Given the description of an element on the screen output the (x, y) to click on. 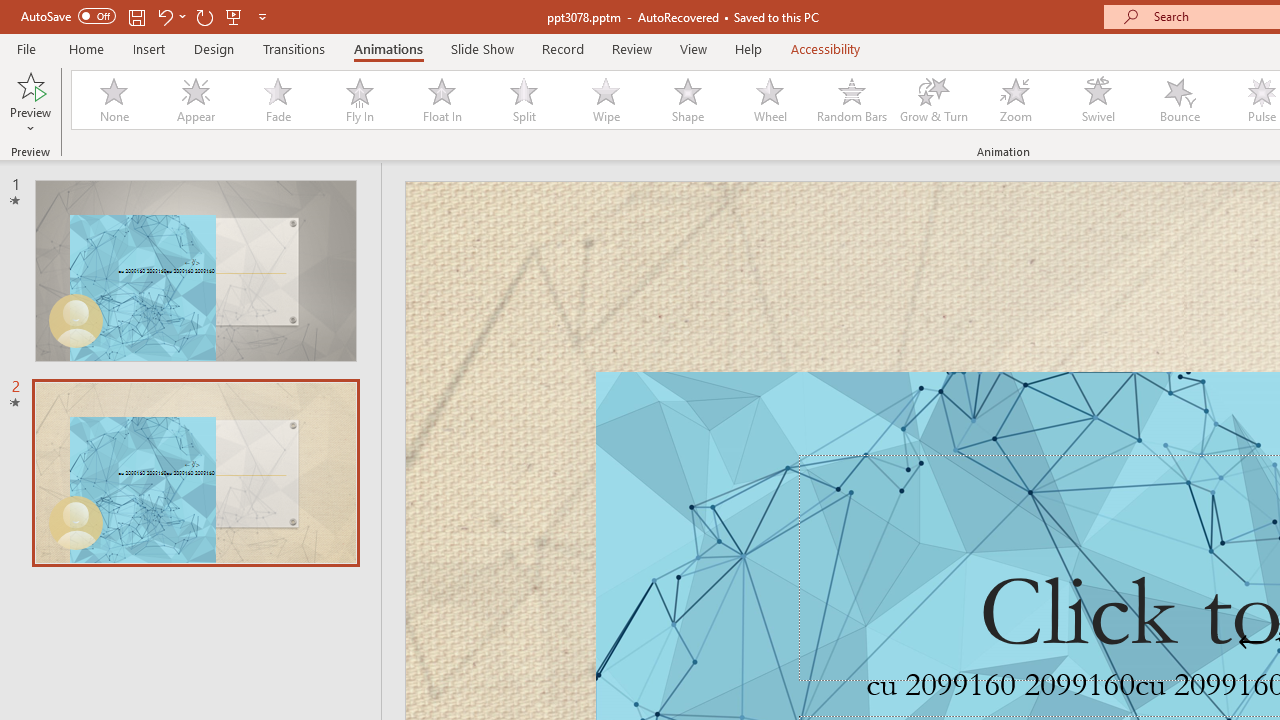
Swivel (1098, 100)
Appear (195, 100)
